Given the description of an element on the screen output the (x, y) to click on. 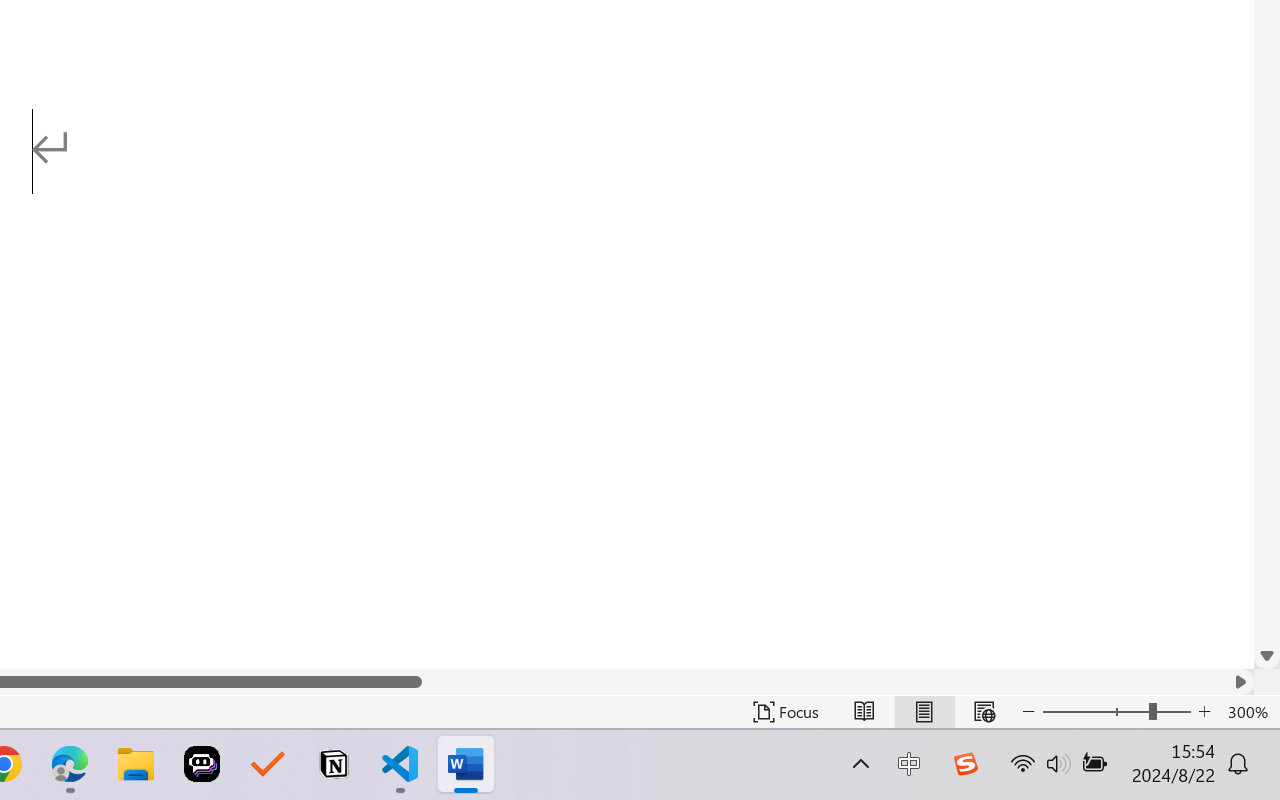
Focus  (786, 712)
Line down (1267, 655)
Web Layout (984, 712)
Class: Image (965, 764)
Zoom (1116, 712)
Zoom 300% (1249, 712)
Print Layout (924, 712)
Page right (824, 681)
Column right (1240, 681)
Zoom Out (1095, 712)
Zoom In (1204, 712)
Read Mode (864, 712)
